Given the description of an element on the screen output the (x, y) to click on. 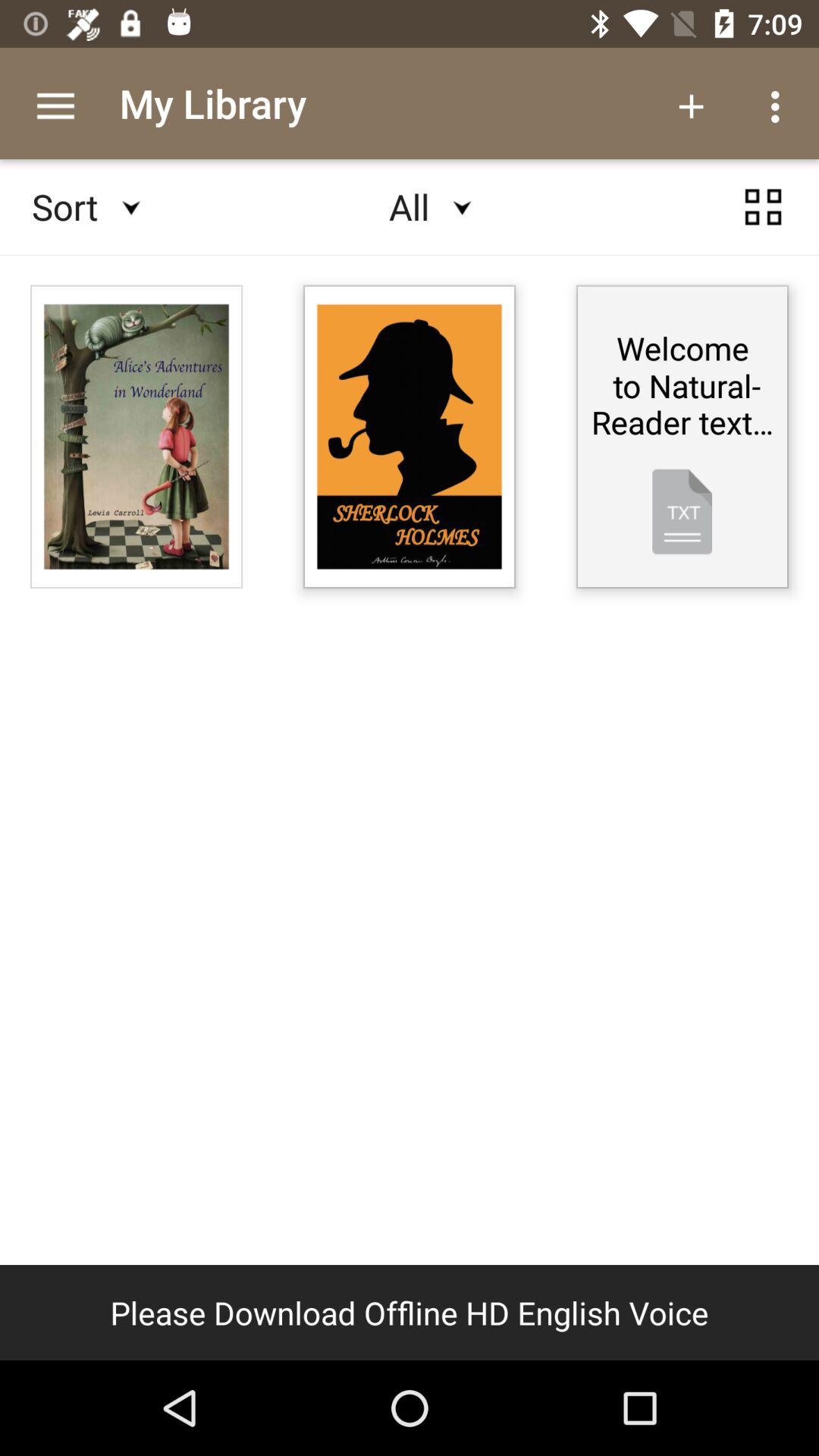
menu button (763, 206)
